Given the description of an element on the screen output the (x, y) to click on. 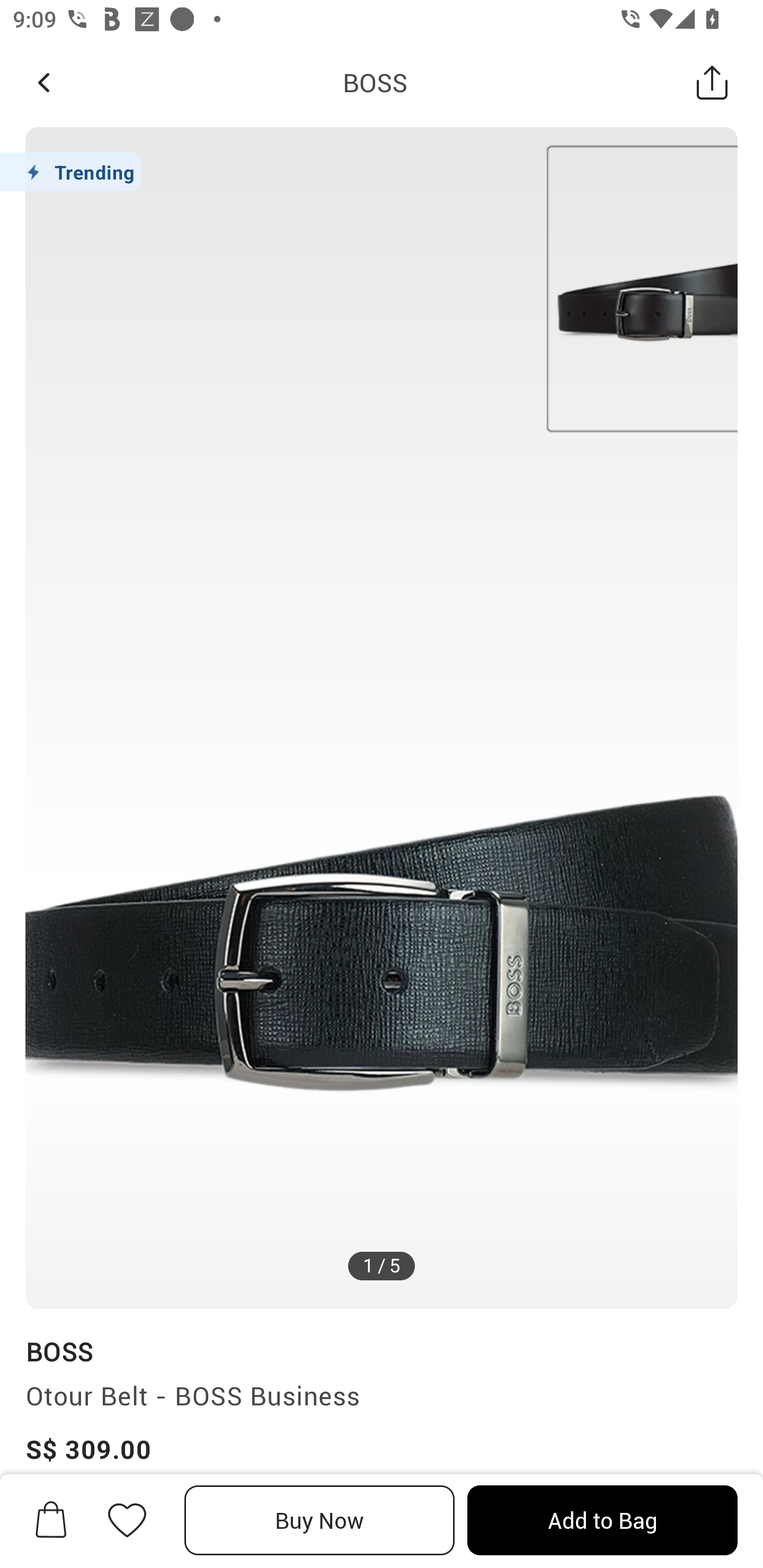
BOSS (375, 82)
Share this Product (711, 82)
BOSS (59, 1351)
Buy Now (319, 1519)
Add to Bag (601, 1519)
